Given the description of an element on the screen output the (x, y) to click on. 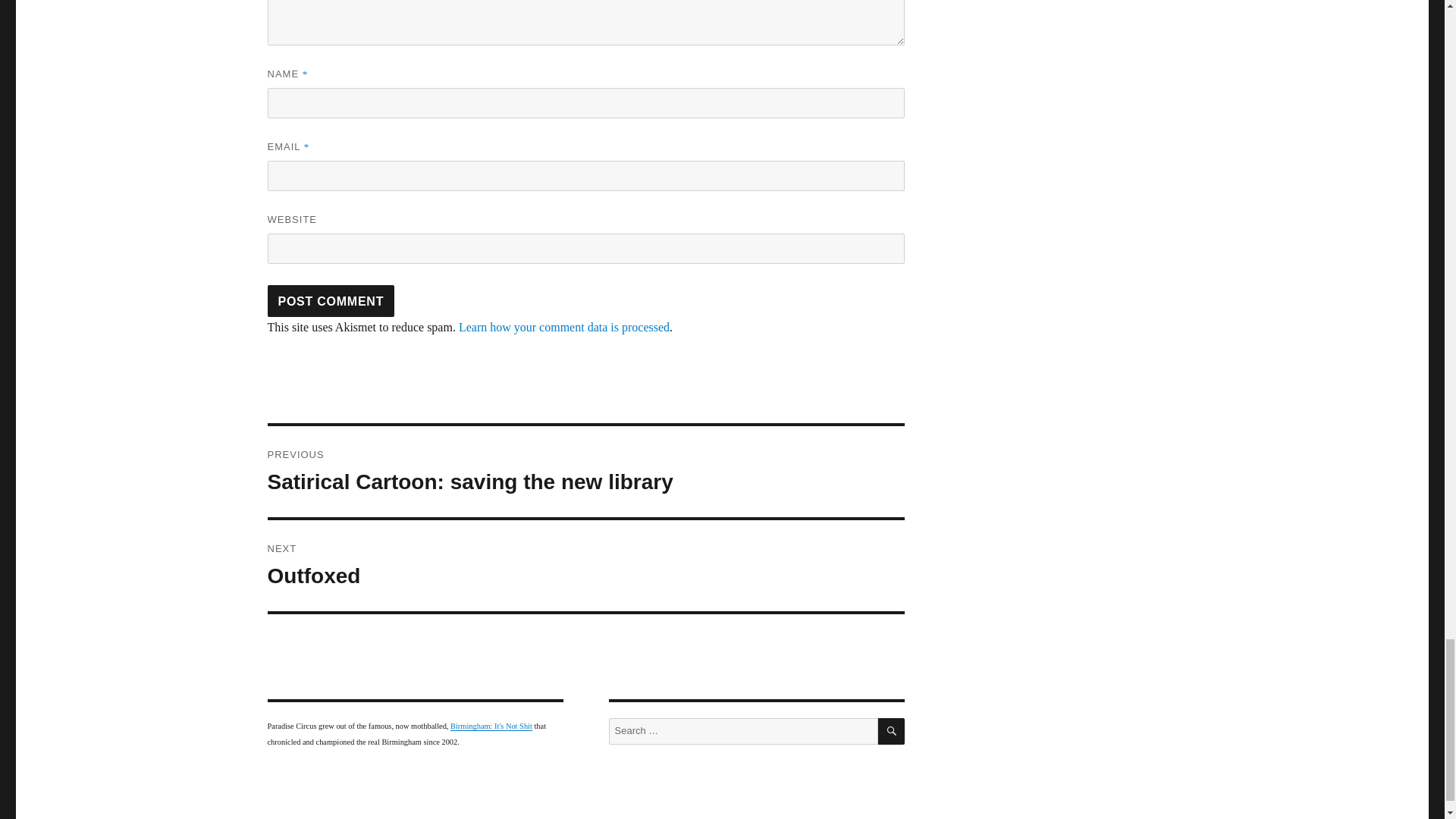
Post Comment (585, 565)
Birmingham: It's Not Shit (330, 300)
Post Comment (490, 725)
Learn how your comment data is processed (330, 300)
SEARCH (563, 327)
